Given the description of an element on the screen output the (x, y) to click on. 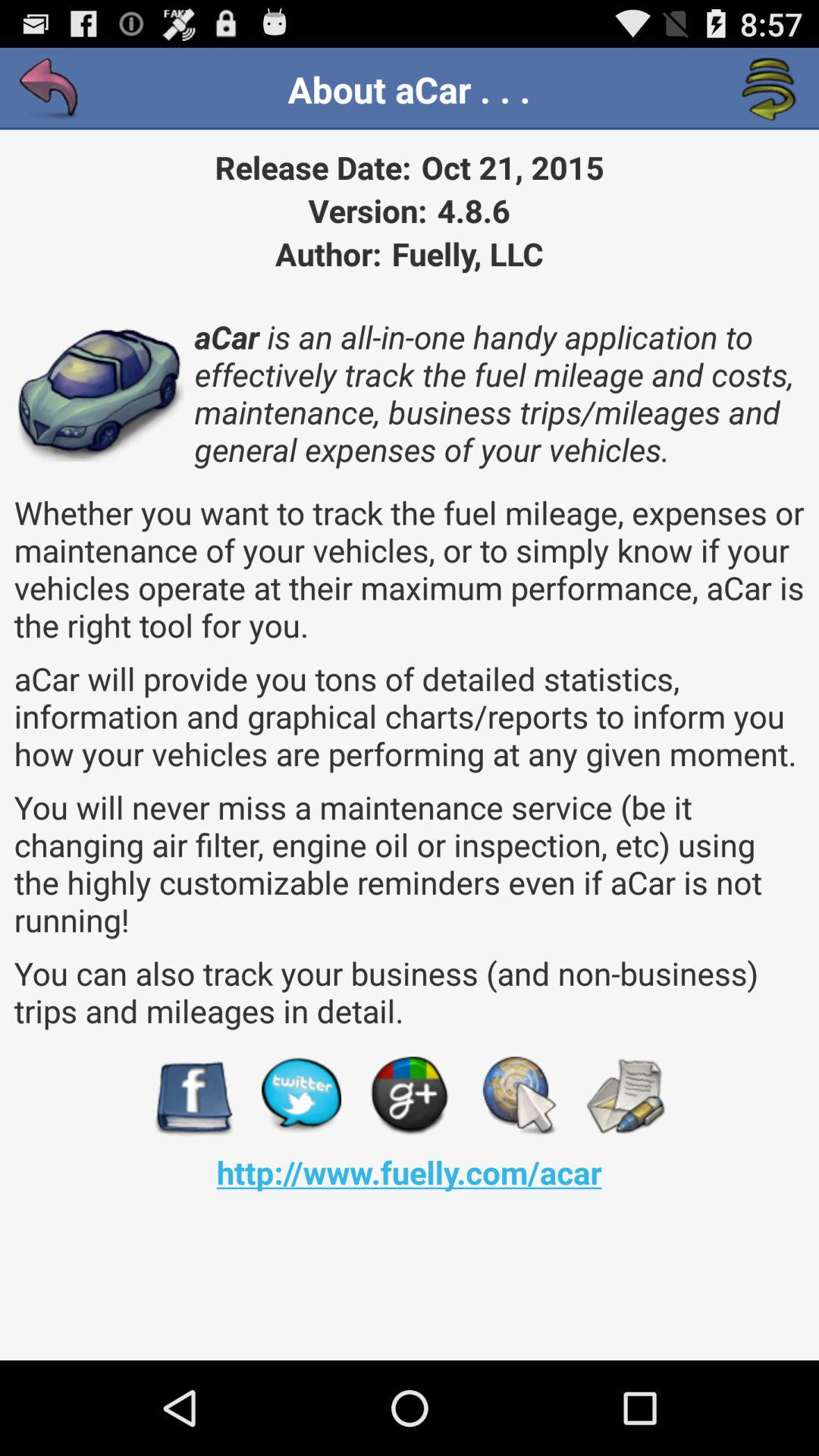
send email (625, 1096)
